Given the description of an element on the screen output the (x, y) to click on. 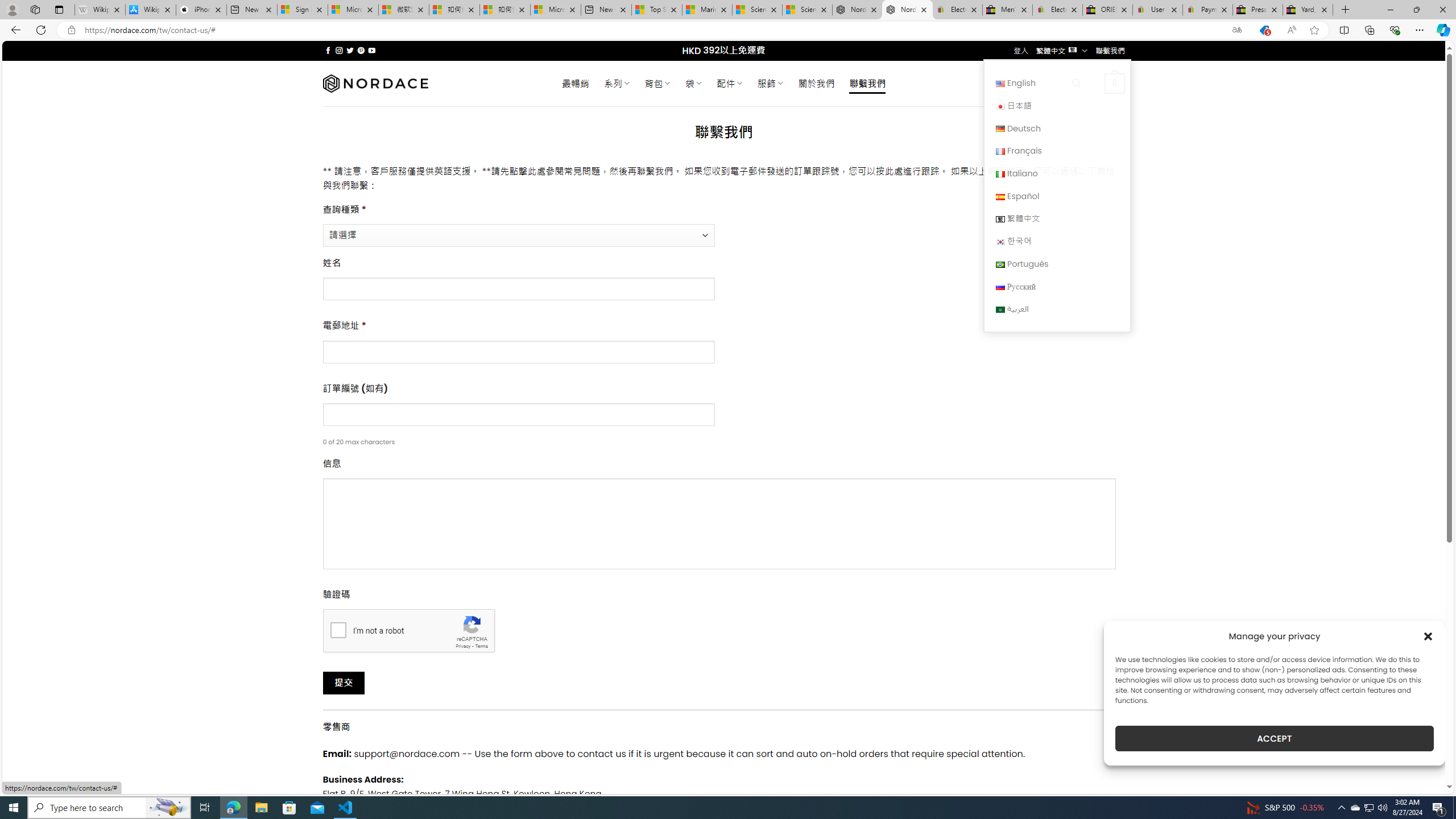
 0  (1115, 83)
Yard, Garden & Outdoor Living (1308, 9)
Microsoft Services Agreement (352, 9)
Follow on YouTube (371, 50)
I'm not a robot (338, 629)
